Given the description of an element on the screen output the (x, y) to click on. 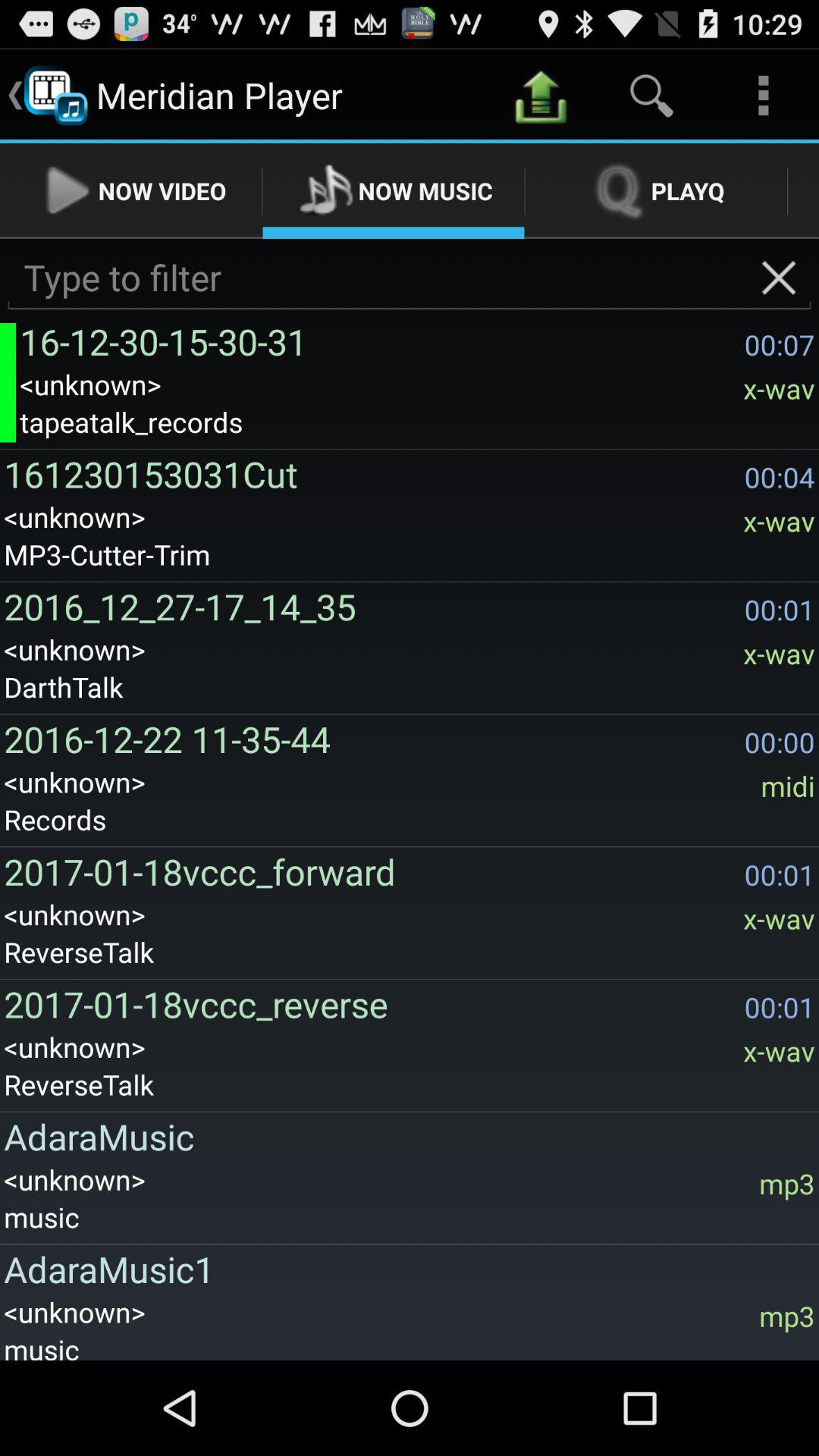
select the app to the right of 16 12 30 icon (778, 277)
